Given the description of an element on the screen output the (x, y) to click on. 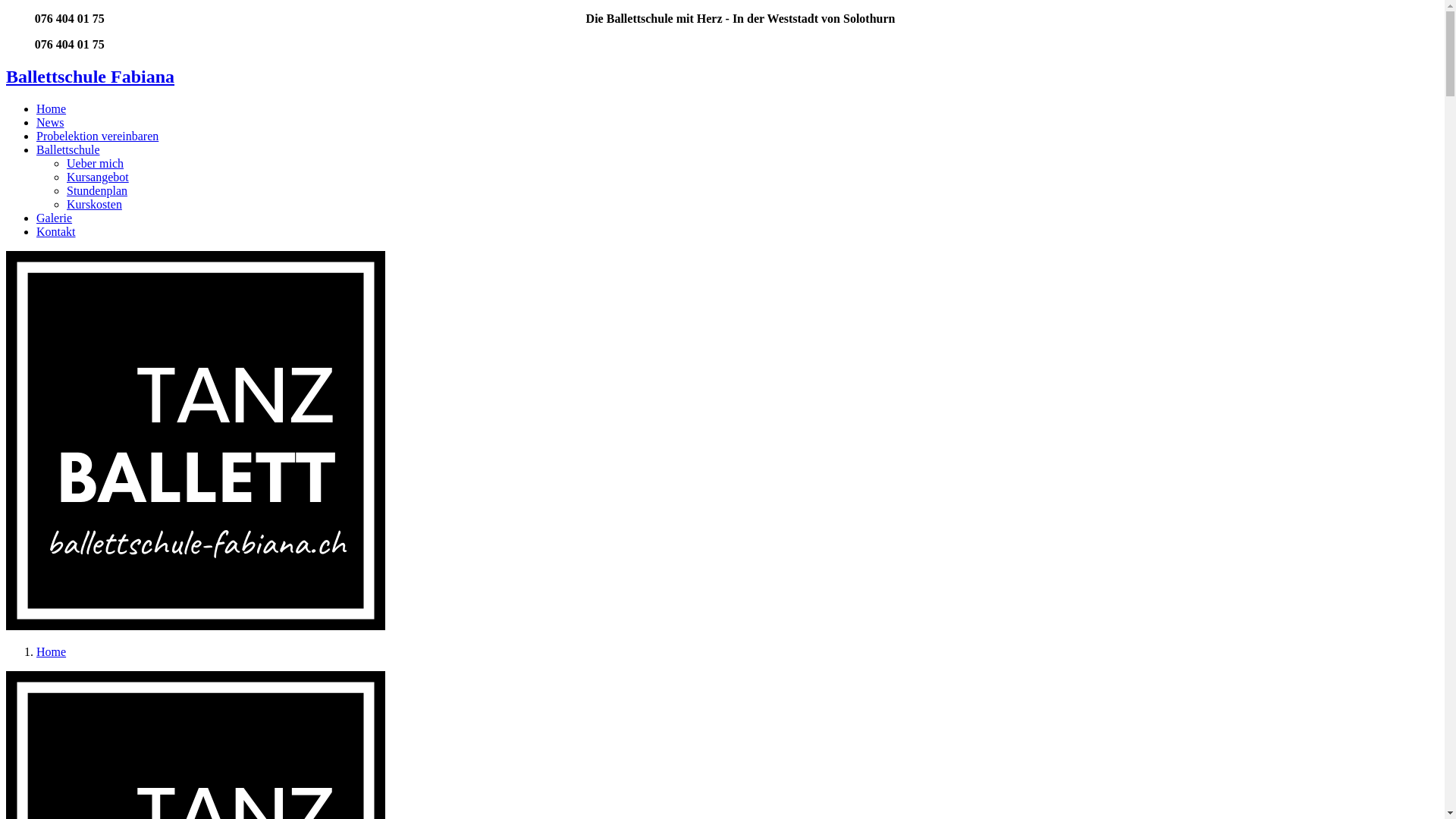
Ballettschule Element type: text (68, 149)
Kontakt Element type: text (55, 231)
Probelektion vereinbaren Element type: text (97, 135)
News Element type: text (49, 122)
Kursangebot Element type: text (97, 176)
Home Element type: text (50, 651)
Stundenplan Element type: text (96, 190)
Galerie Element type: text (54, 217)
Ballettschule Fabiana Element type: text (90, 76)
Ueber mich Element type: text (94, 162)
Home Element type: text (50, 108)
Kurskosten Element type: text (94, 203)
